Given the description of an element on the screen output the (x, y) to click on. 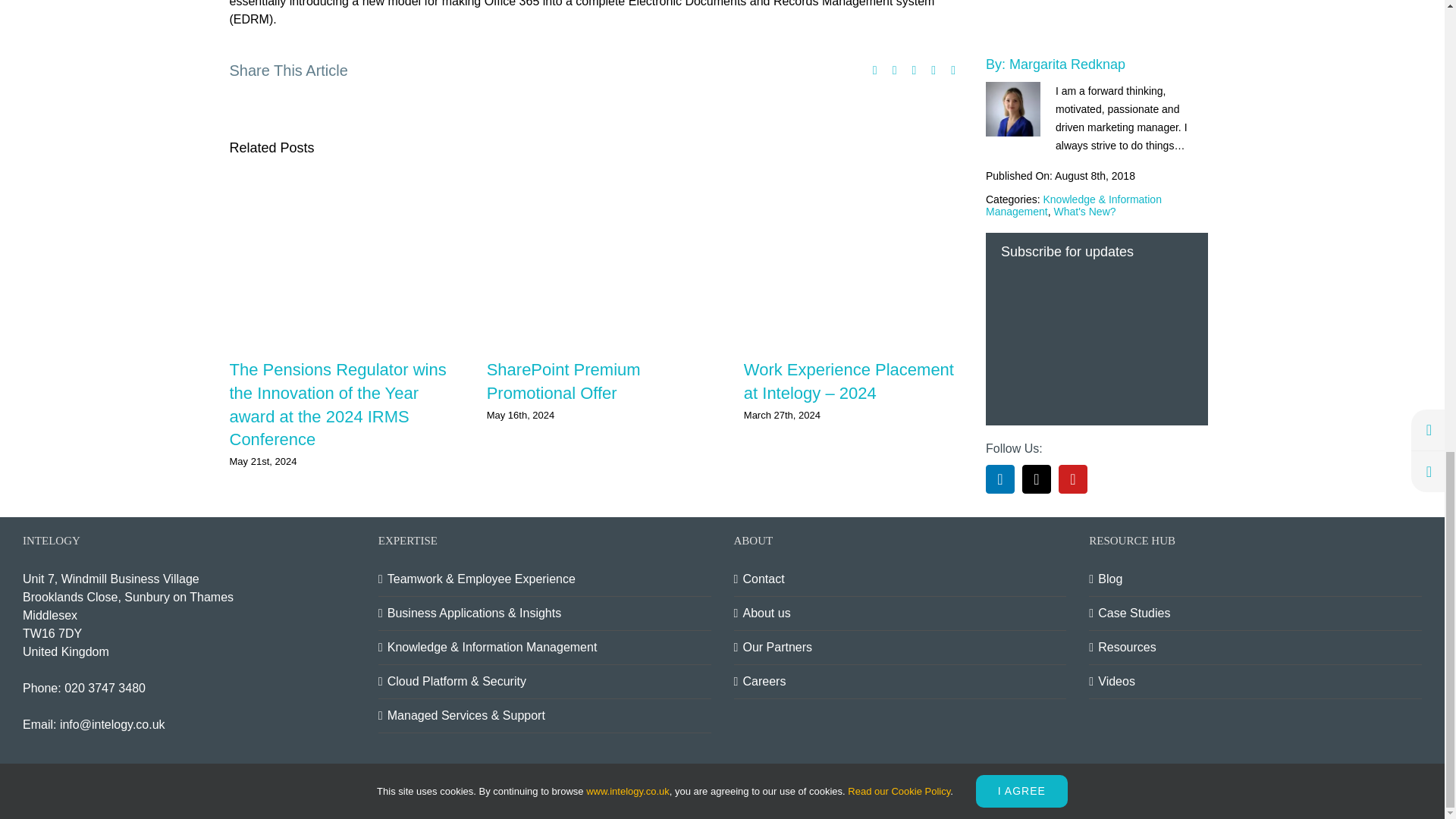
LinkedIn (1334, 784)
LinkedIn (999, 40)
SharePoint Premium Promotional Offer (563, 381)
X (874, 70)
X (1371, 784)
Email (952, 70)
LinkedIn (913, 70)
X (1036, 40)
Reddit (894, 70)
WhatsApp (933, 70)
YouTube (1072, 40)
YouTube (1407, 784)
